Given the description of an element on the screen output the (x, y) to click on. 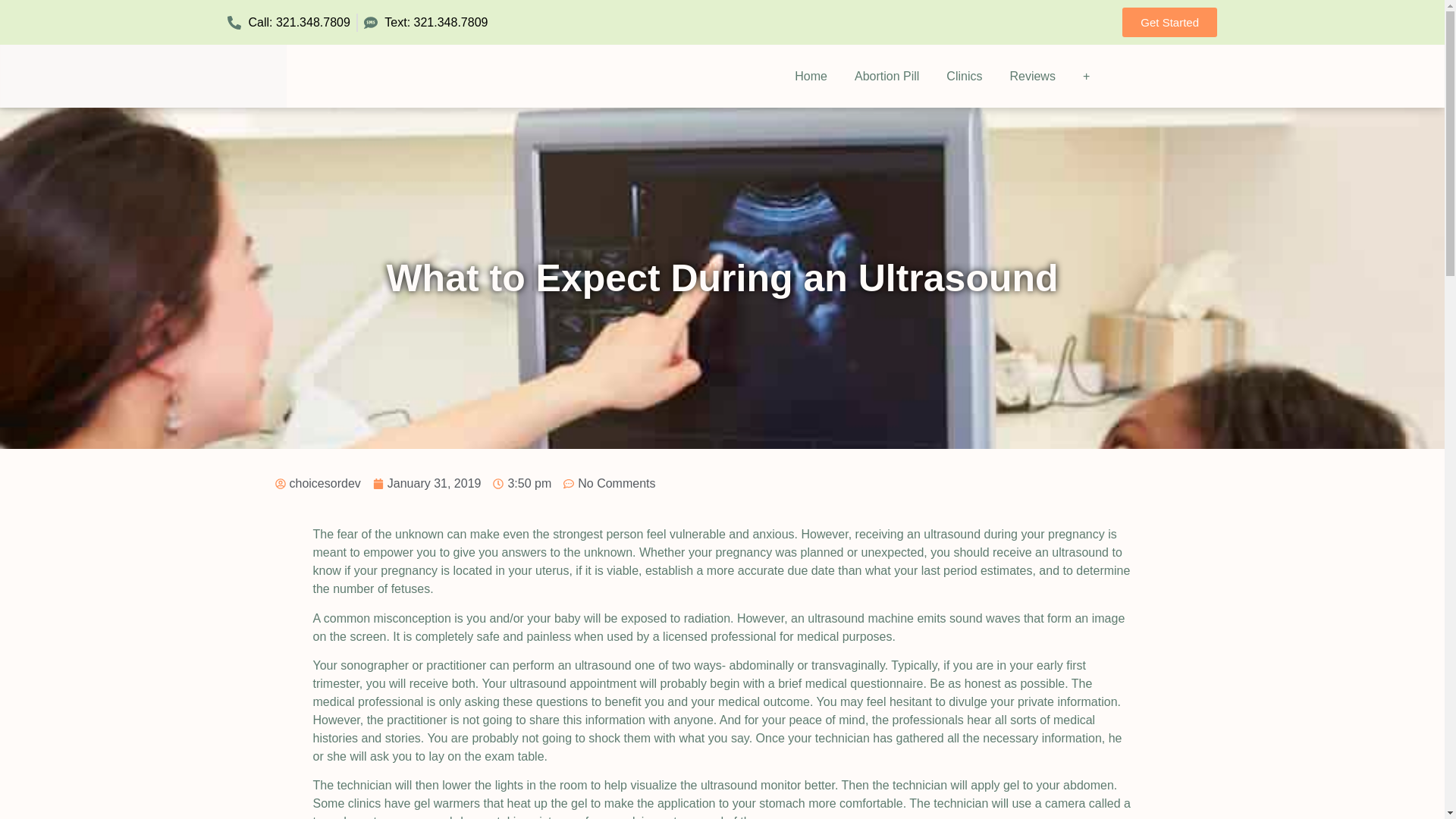
Abortion Pill (887, 76)
Call: 321.348.7809 (288, 22)
Text: 321.348.7809 (425, 22)
Reviews (1031, 76)
Clinics (964, 76)
Home (810, 76)
Get Started (1169, 21)
